Given the description of an element on the screen output the (x, y) to click on. 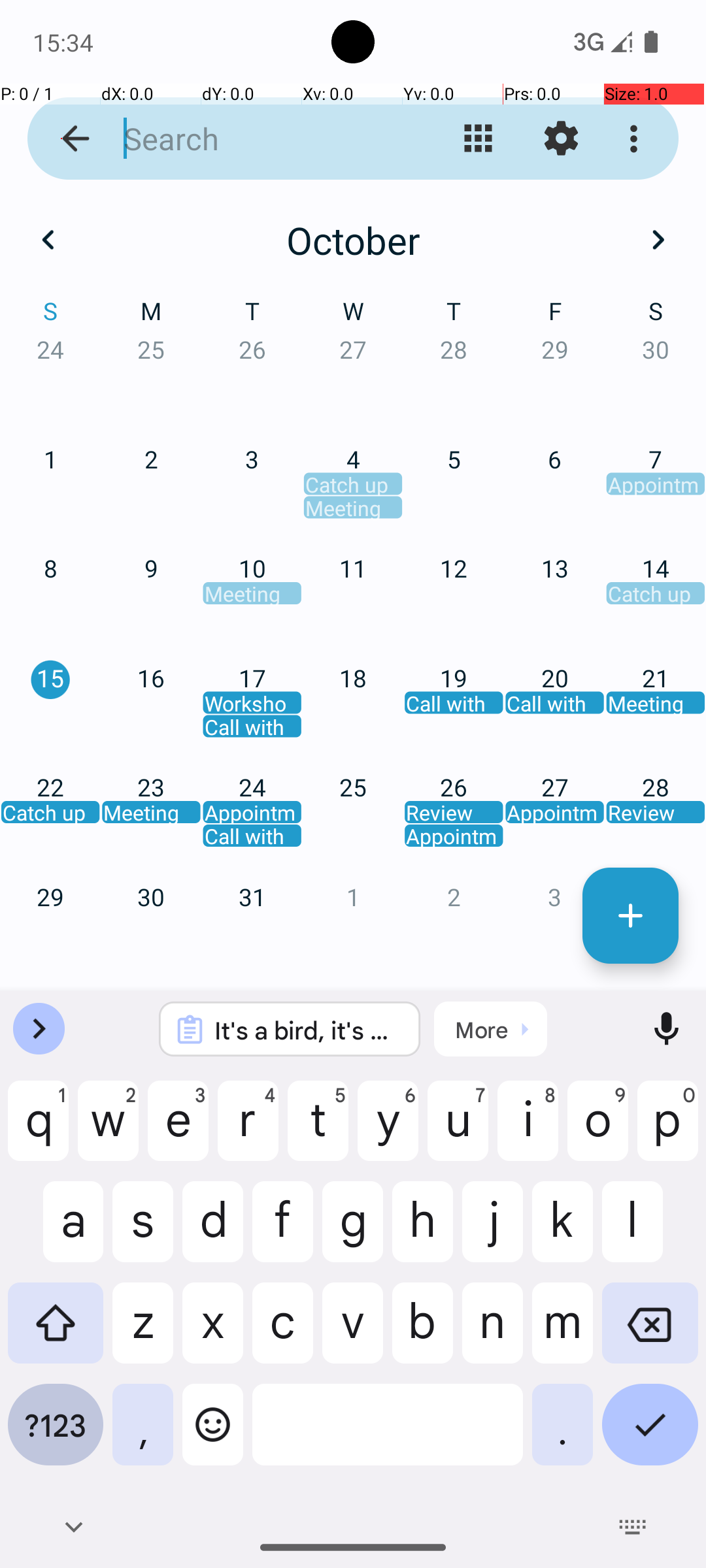
It's a bird, it's a plane. Element type: android.widget.TextView (306, 1029)
